Given the description of an element on the screen output the (x, y) to click on. 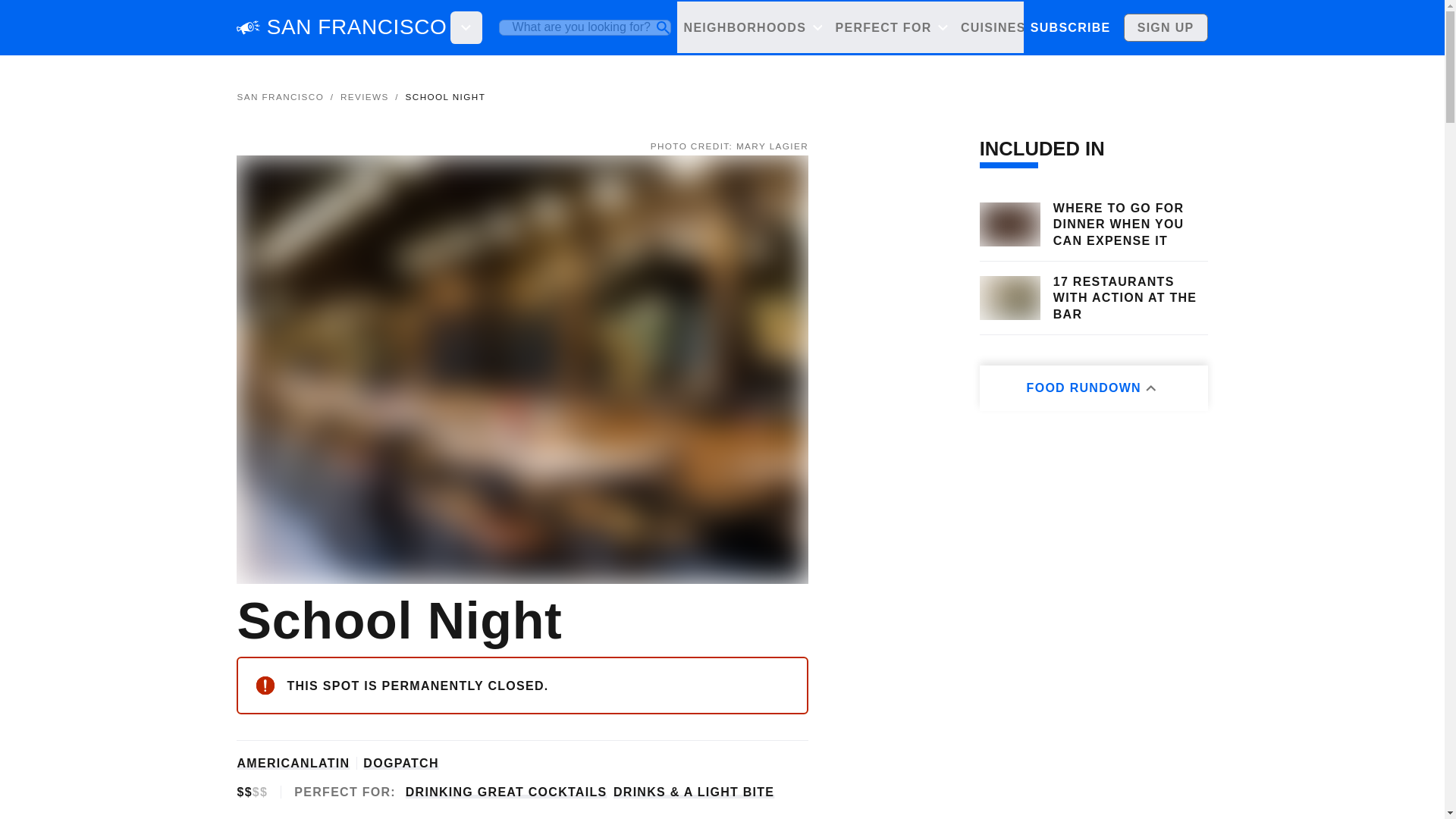
SAN FRANCISCO (279, 96)
SIGN UP (1166, 27)
WHERE TO GO FOR DINNER WHEN YOU CAN EXPENSE IT (1130, 223)
LATIN (329, 763)
17 RESTAURANTS WITH ACTION AT THE BAR (1130, 297)
AMERICAN (271, 763)
DRINKING GREAT COCKTAILS (506, 791)
REVIEWS (1151, 27)
CUISINES (1000, 27)
REVIEWS (364, 96)
